Given the description of an element on the screen output the (x, y) to click on. 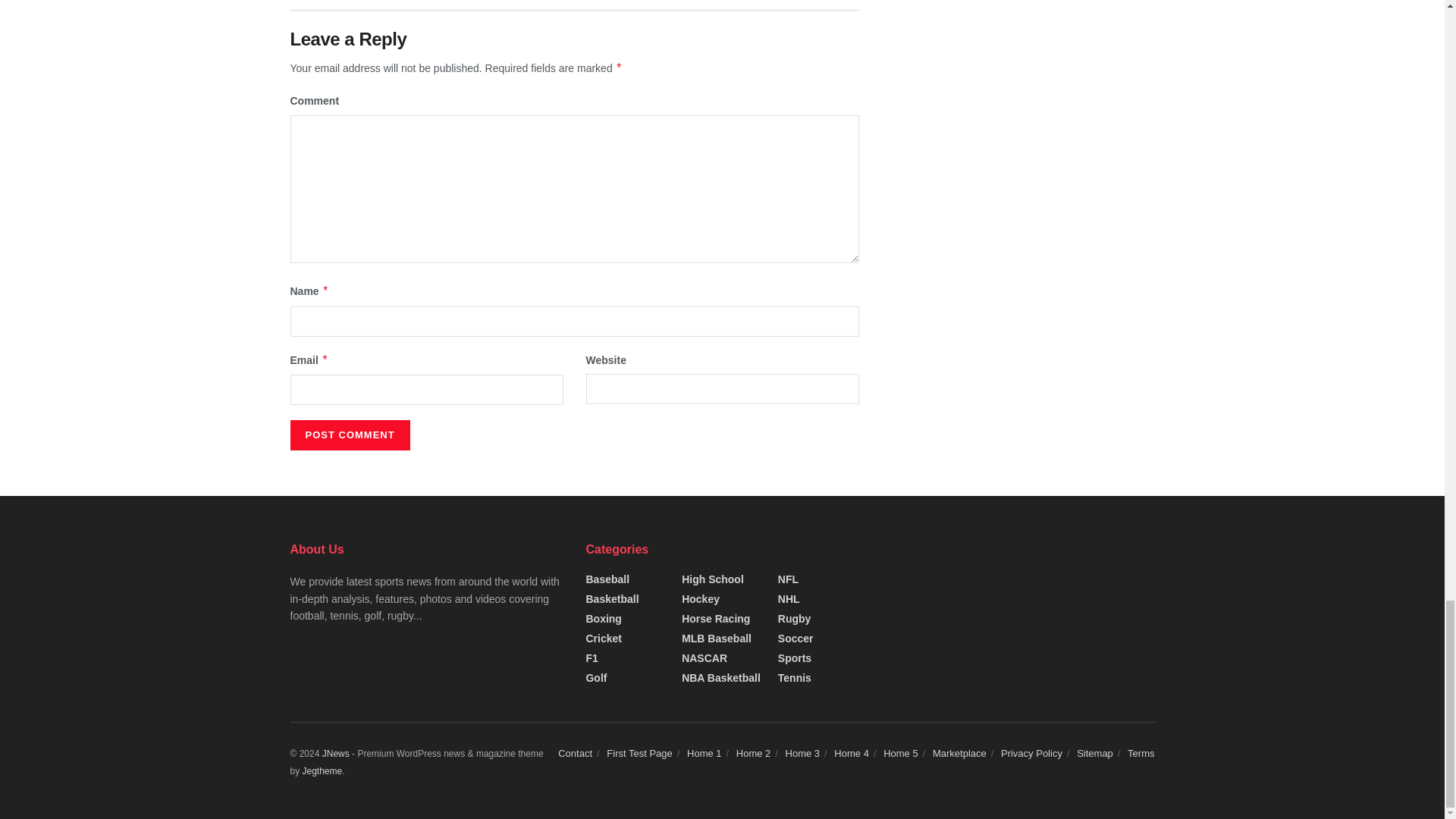
Jegtheme (322, 770)
Post Comment (349, 435)
